Given the description of an element on the screen output the (x, y) to click on. 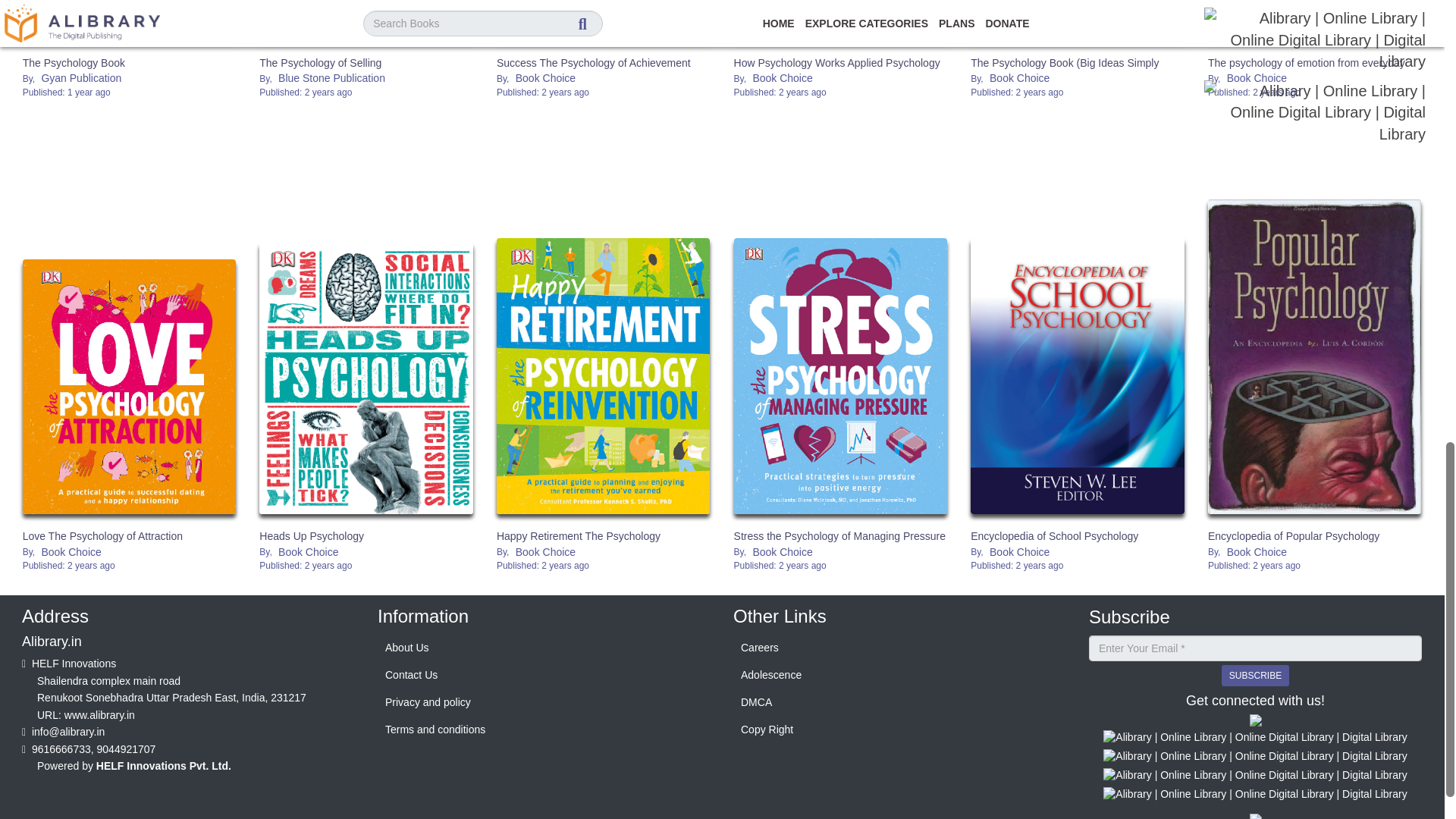
Blue Stone Publication (331, 78)
Success The Psychology of Achievement (603, 20)
How Psychology Works Applied Psychology Visually Explained (840, 20)
The Psychology Book (74, 62)
Book Choice (70, 552)
Heads Up Psychology (311, 535)
Love The Psychology of Attraction (103, 535)
Book Choice (1256, 78)
The Psychology of Selling (365, 20)
Book Choice (781, 78)
Book Choice (1018, 78)
Gyan Publication (81, 78)
The Psychology Book (129, 20)
How Psychology Works Applied Psychology Visually Explained (836, 70)
